Given the description of an element on the screen output the (x, y) to click on. 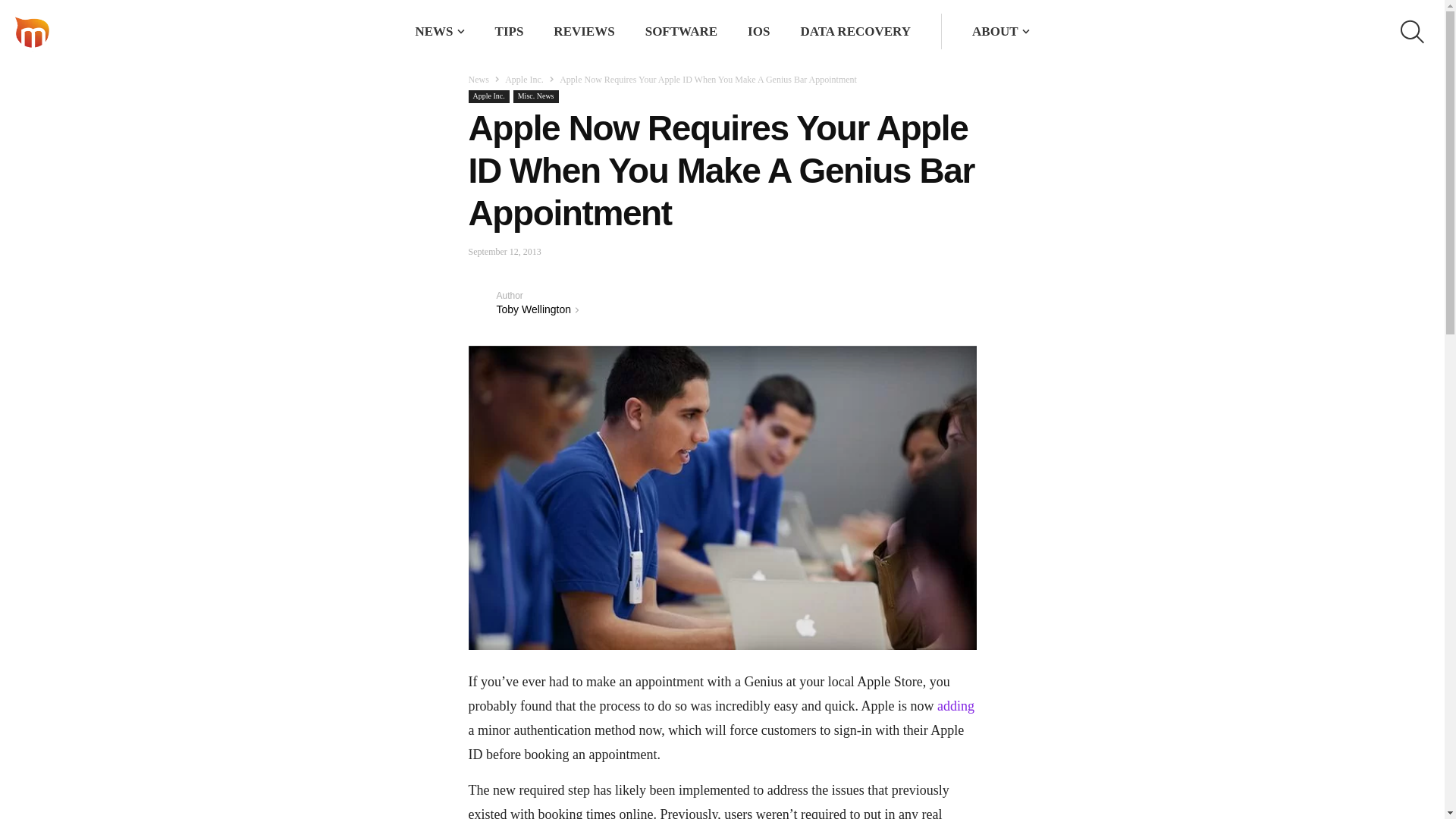
Apple Inc. (488, 96)
REVIEWS (583, 31)
Search (918, 31)
Toby Wellington (533, 309)
News (478, 79)
NEWS (433, 31)
SOFTWARE (681, 31)
Search (918, 31)
adding (955, 705)
View all posts in Apple Inc. (524, 79)
Toby Wellington (482, 301)
DATA RECOVERY (855, 31)
Misc. News (536, 96)
ABOUT (994, 31)
